Given the description of an element on the screen output the (x, y) to click on. 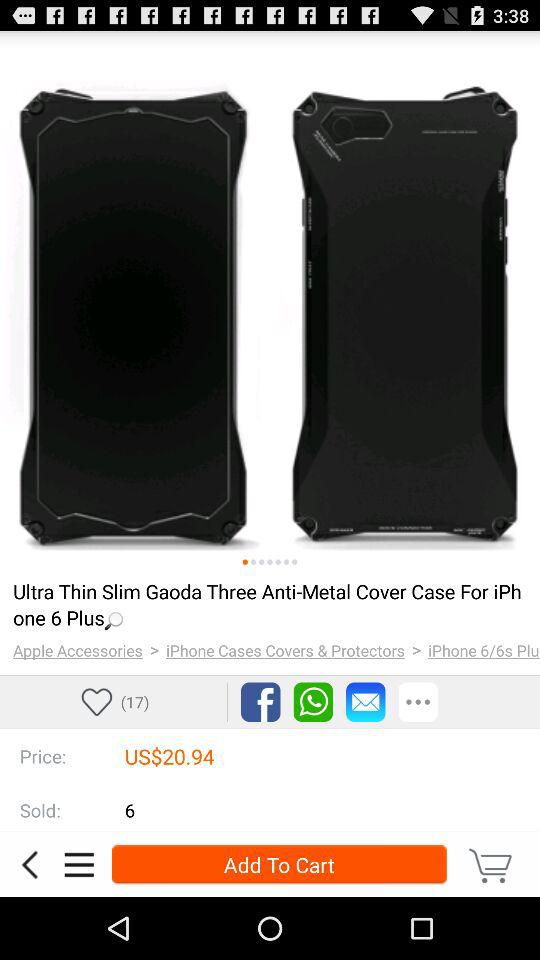
menu section (79, 864)
